Given the description of an element on the screen output the (x, y) to click on. 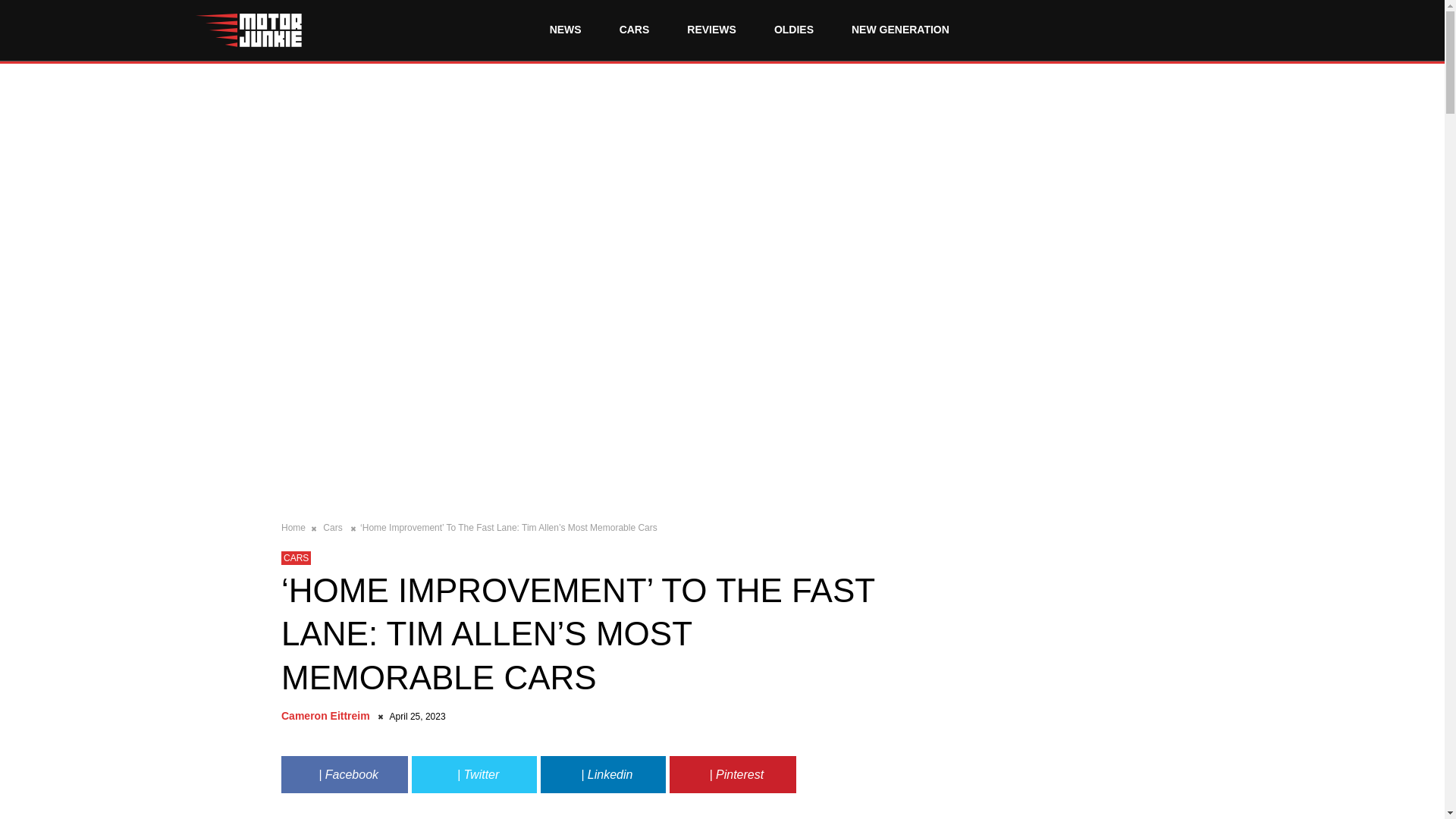
CARS (634, 29)
CARS (296, 558)
Cars (334, 527)
Cameron Eittreim (328, 715)
NEWS (565, 29)
OLDIES (793, 29)
REVIEWS (711, 29)
Home (294, 527)
NEW GENERATION (899, 29)
